Given the description of an element on the screen output the (x, y) to click on. 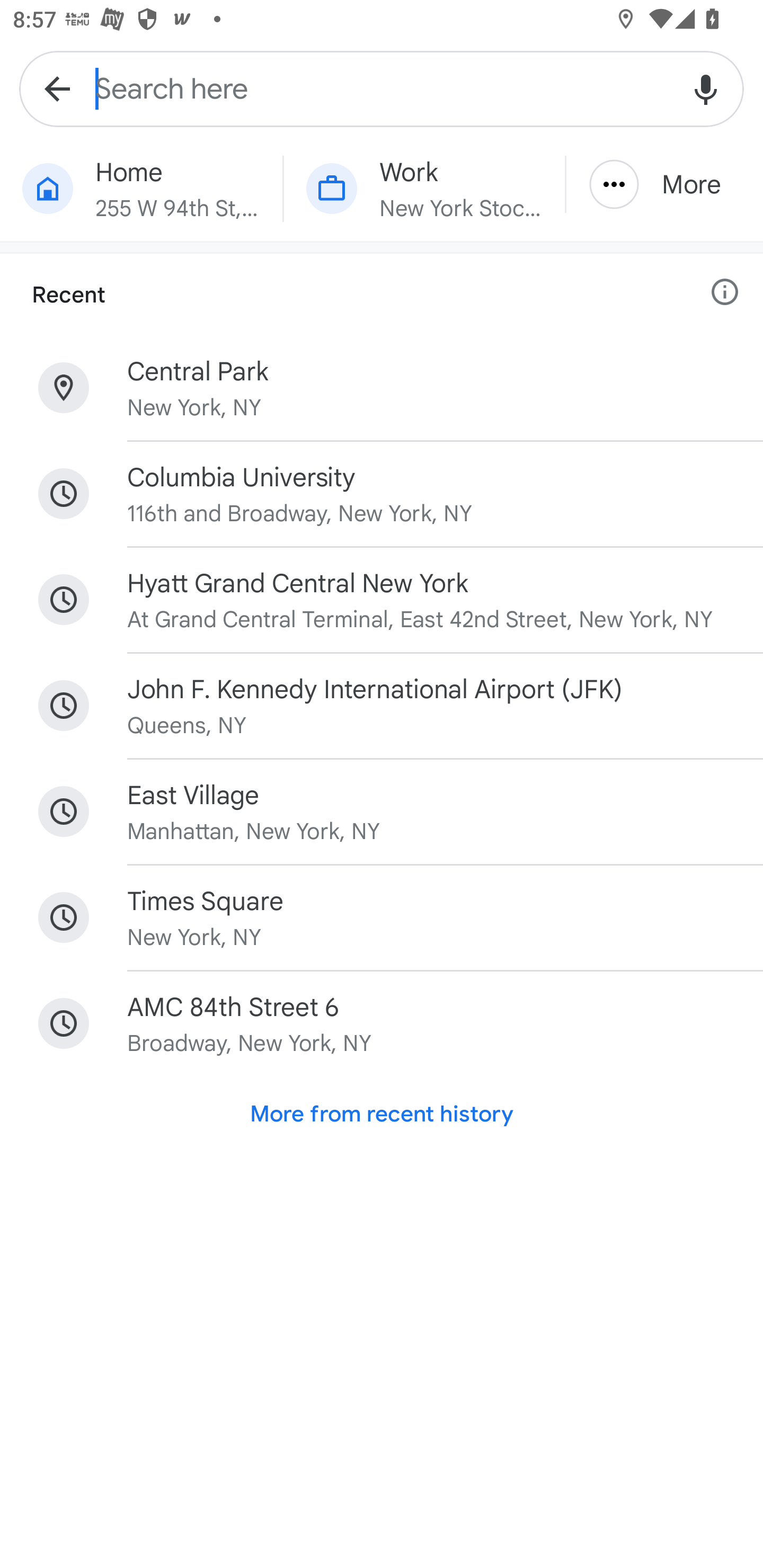
Navigate up (57, 88)
Search here (381, 88)
Voice search (705, 88)
More (664, 184)
Central Park New York, NY (381, 387)
East Village Manhattan, New York, NY (381, 810)
Times Square New York, NY (381, 917)
AMC 84th Street 6 Broadway, New York, NY (381, 1023)
More from recent history (381, 1113)
